Given the description of an element on the screen output the (x, y) to click on. 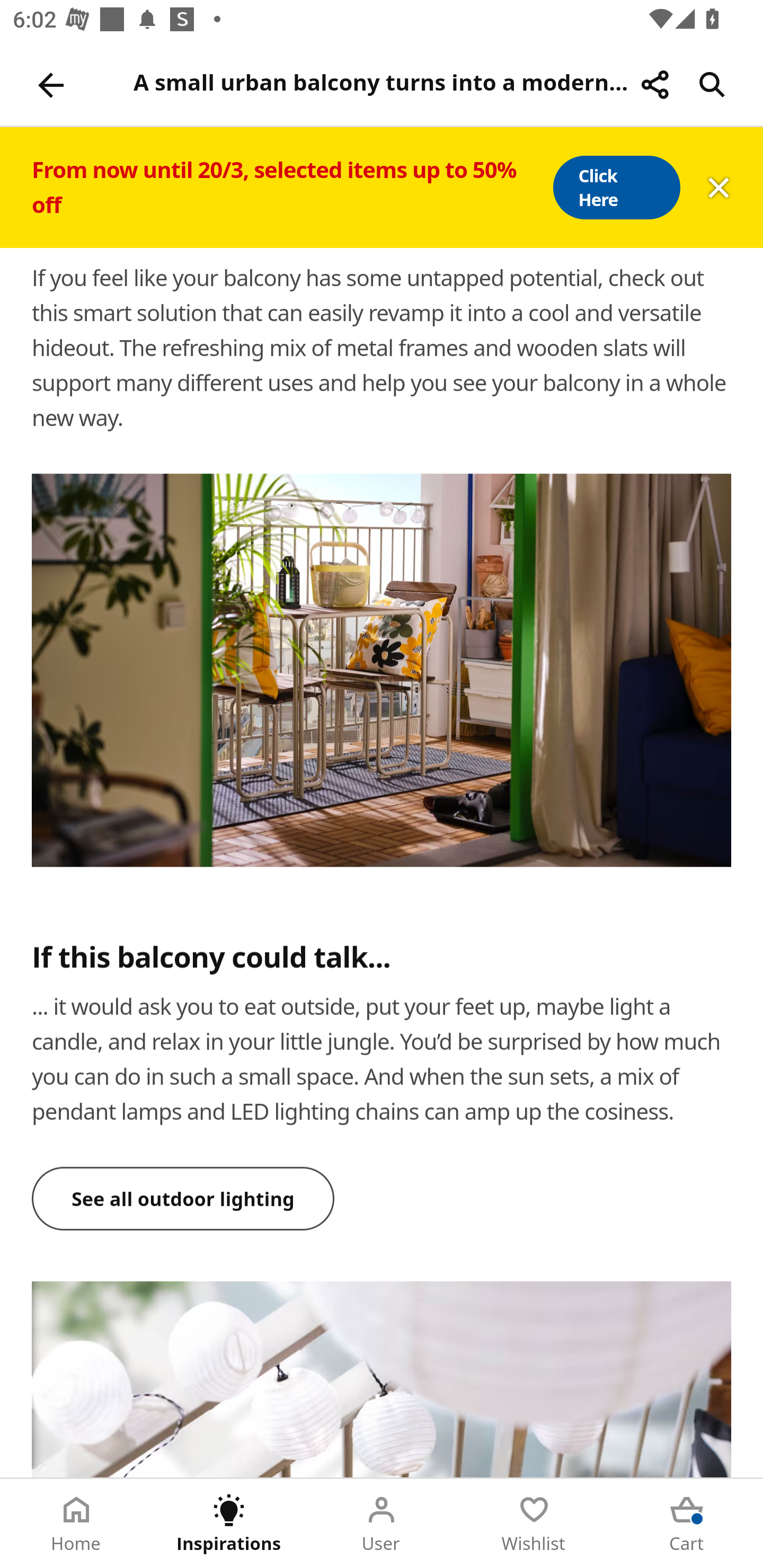
Click Here (615, 187)
See all outdoor lighting (183, 1198)
Home
Tab 1 of 5 (76, 1522)
Inspirations
Tab 2 of 5 (228, 1522)
User
Tab 3 of 5 (381, 1522)
Wishlist
Tab 4 of 5 (533, 1522)
Cart
Tab 5 of 5 (686, 1522)
